Given the description of an element on the screen output the (x, y) to click on. 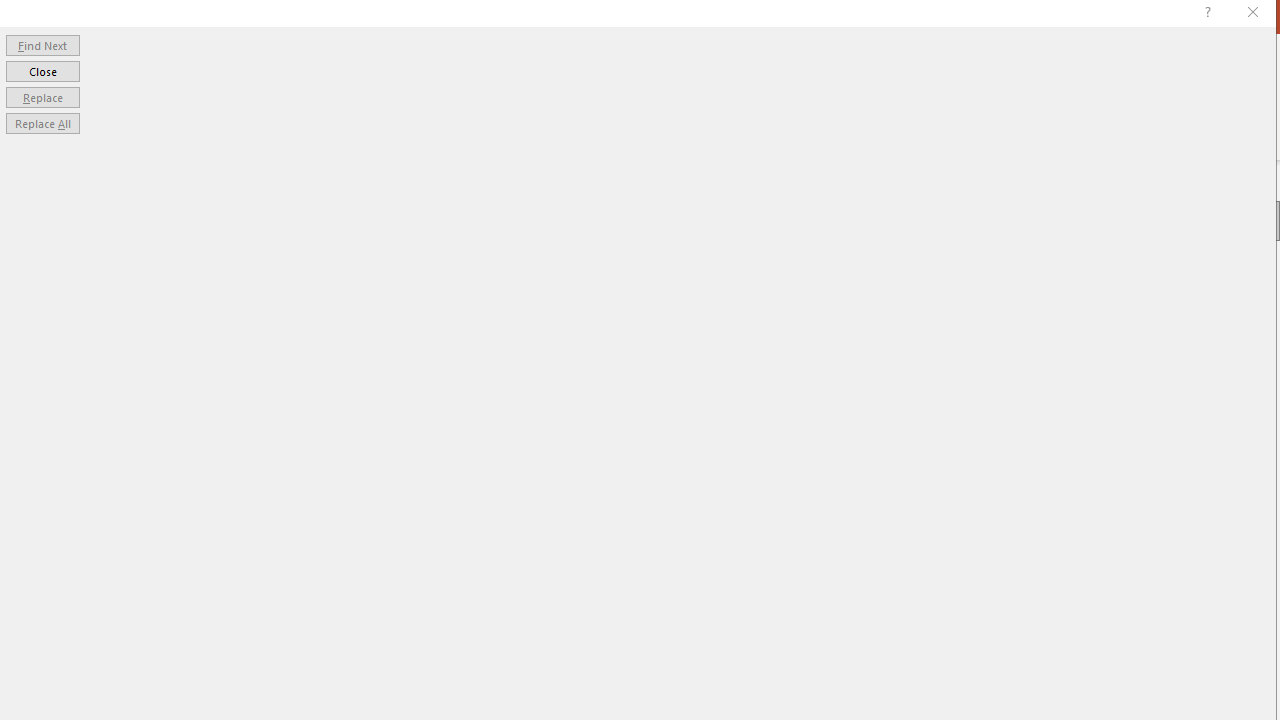
Transparency (1160, 459)
Fill (1088, 269)
Transparency (1168, 459)
Picture or texture fill (1055, 344)
Gradient fill (1031, 322)
